Given the description of an element on the screen output the (x, y) to click on. 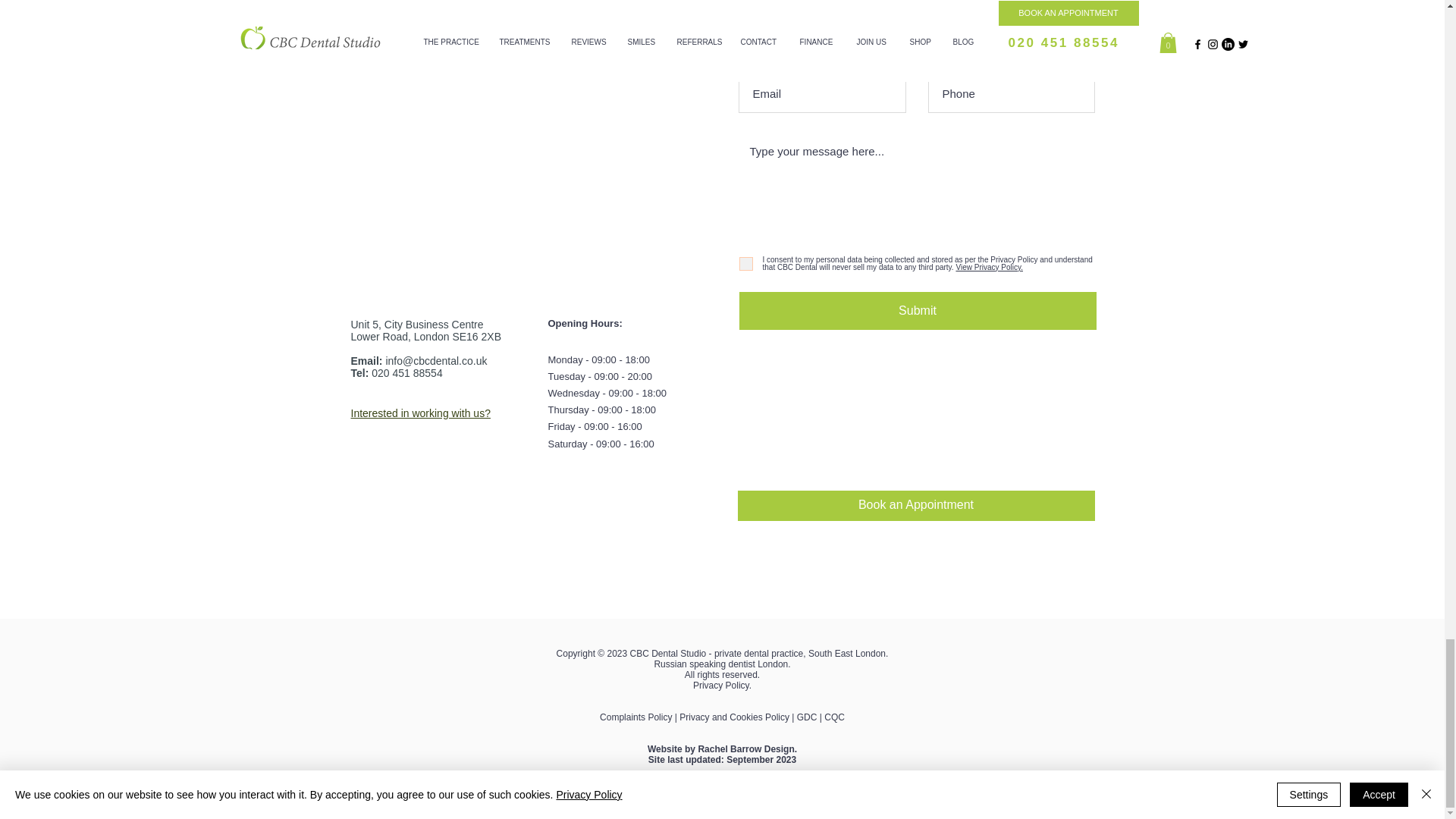
Google Maps (515, 138)
